Given the description of an element on the screen output the (x, y) to click on. 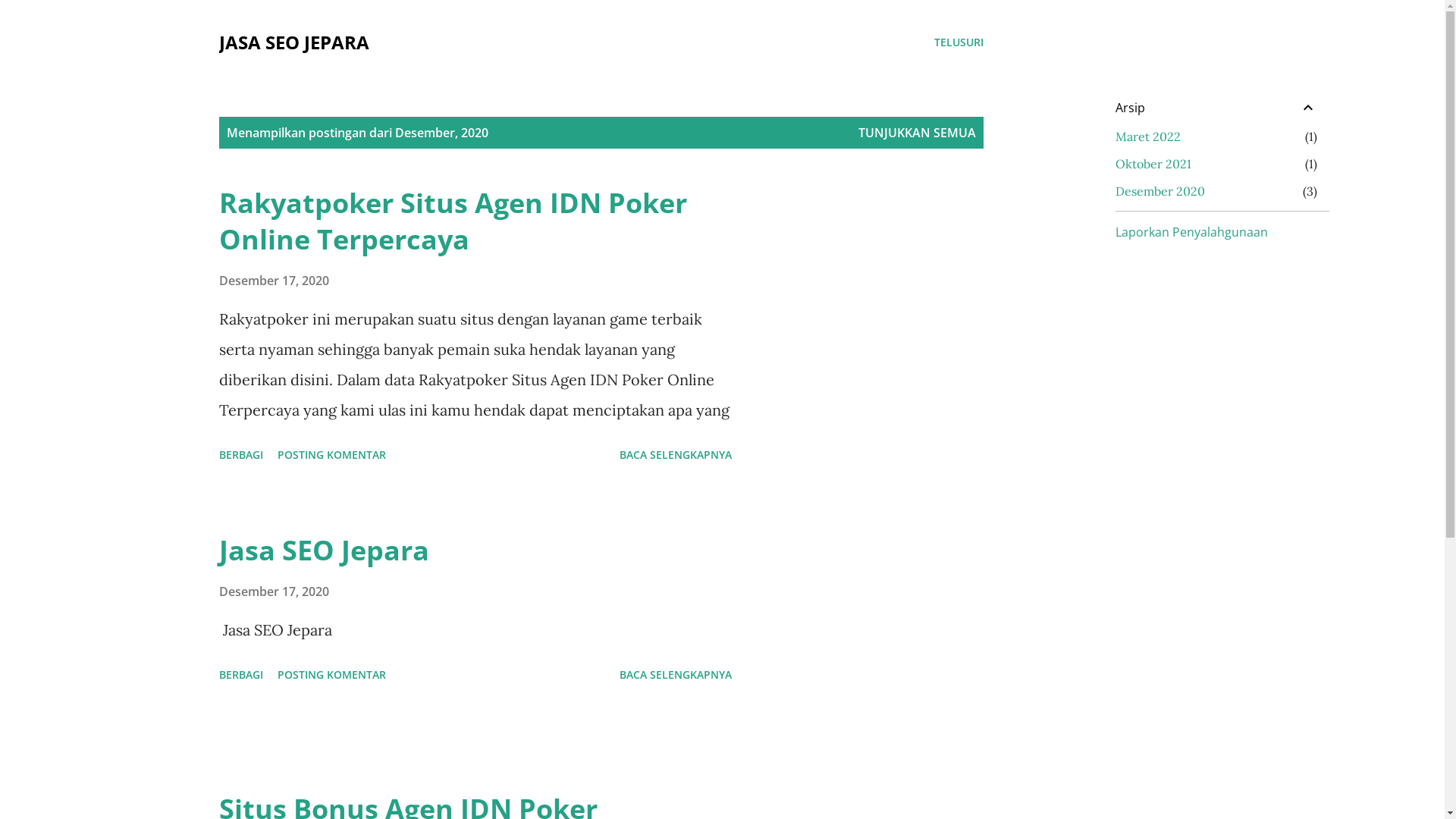
JASA SEO JEPARA Element type: text (293, 41)
Jasa SEO Jepara Element type: text (323, 549)
Desember 17, 2020 Element type: text (273, 280)
Laporkan Penyalahgunaan Element type: text (1190, 231)
BACA SELENGKAPNYA Element type: text (674, 454)
Desember 17, 2020 Element type: text (273, 591)
TELUSURI Element type: text (958, 42)
BERBAGI Element type: text (240, 454)
POSTING KOMENTAR Element type: text (331, 674)
Maret 2022
1 Element type: text (1146, 136)
Rakyatpoker Situs Agen IDN Poker Online Terpercaya Element type: text (452, 220)
Oktober 2021
1 Element type: text (1152, 163)
BERBAGI Element type: text (240, 674)
BACA SELENGKAPNYA Element type: text (674, 674)
Desember 2020
3 Element type: text (1159, 190)
POSTING KOMENTAR Element type: text (331, 454)
TUNJUKKAN SEMUA Element type: text (916, 132)
